Given the description of an element on the screen output the (x, y) to click on. 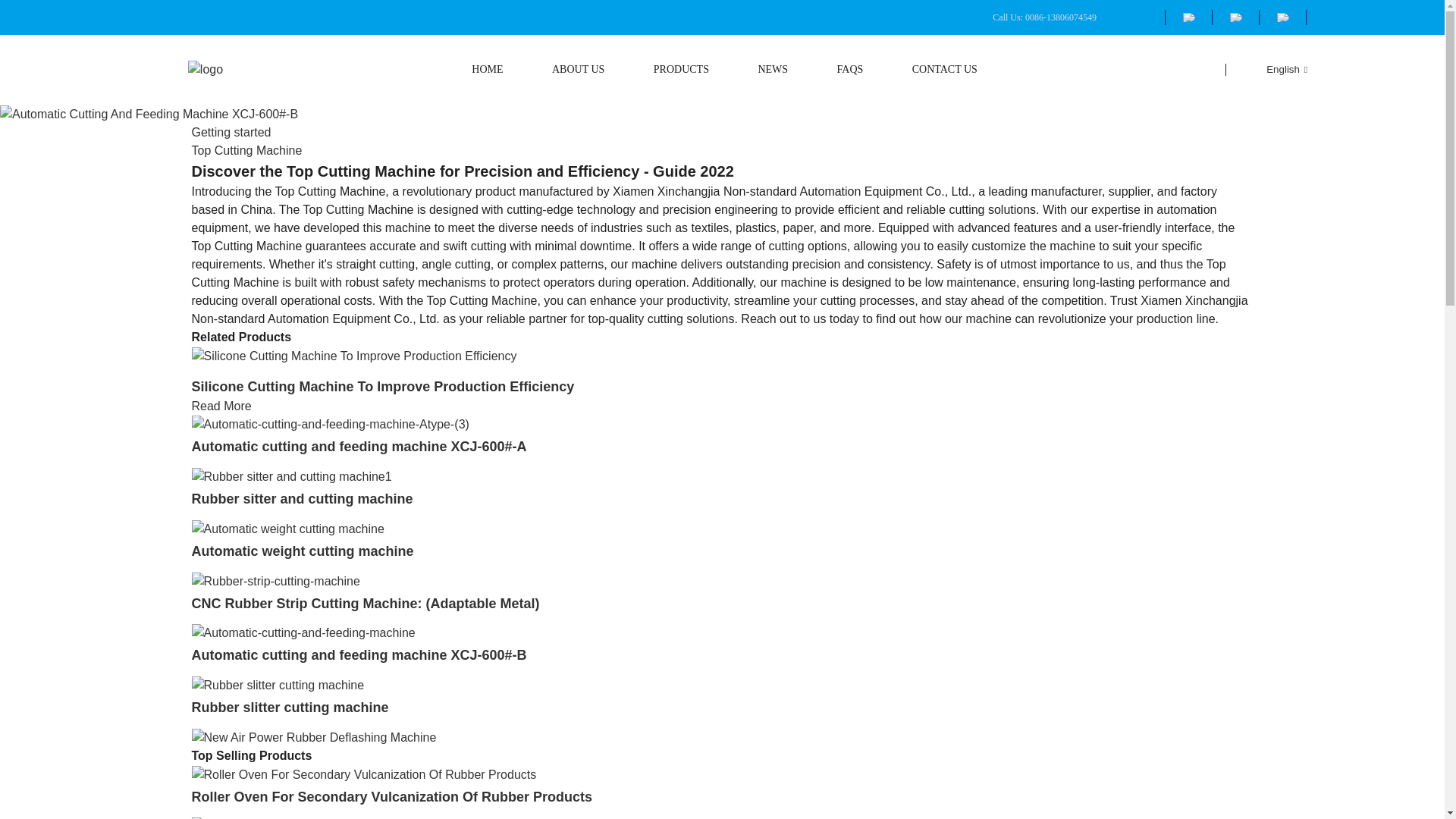
Rubber sitter and cutting machine (290, 475)
Automatic weight cutting machine (301, 550)
CONTACT US (944, 69)
Automatic weight cutting machine (301, 550)
HOME (486, 69)
PRODUCTS (681, 69)
English (1274, 69)
Rubber sitter and cutting machine (301, 498)
Silicone Cutting Machine To Improve Production Efficiency (353, 354)
Read More (220, 405)
